Given the description of an element on the screen output the (x, y) to click on. 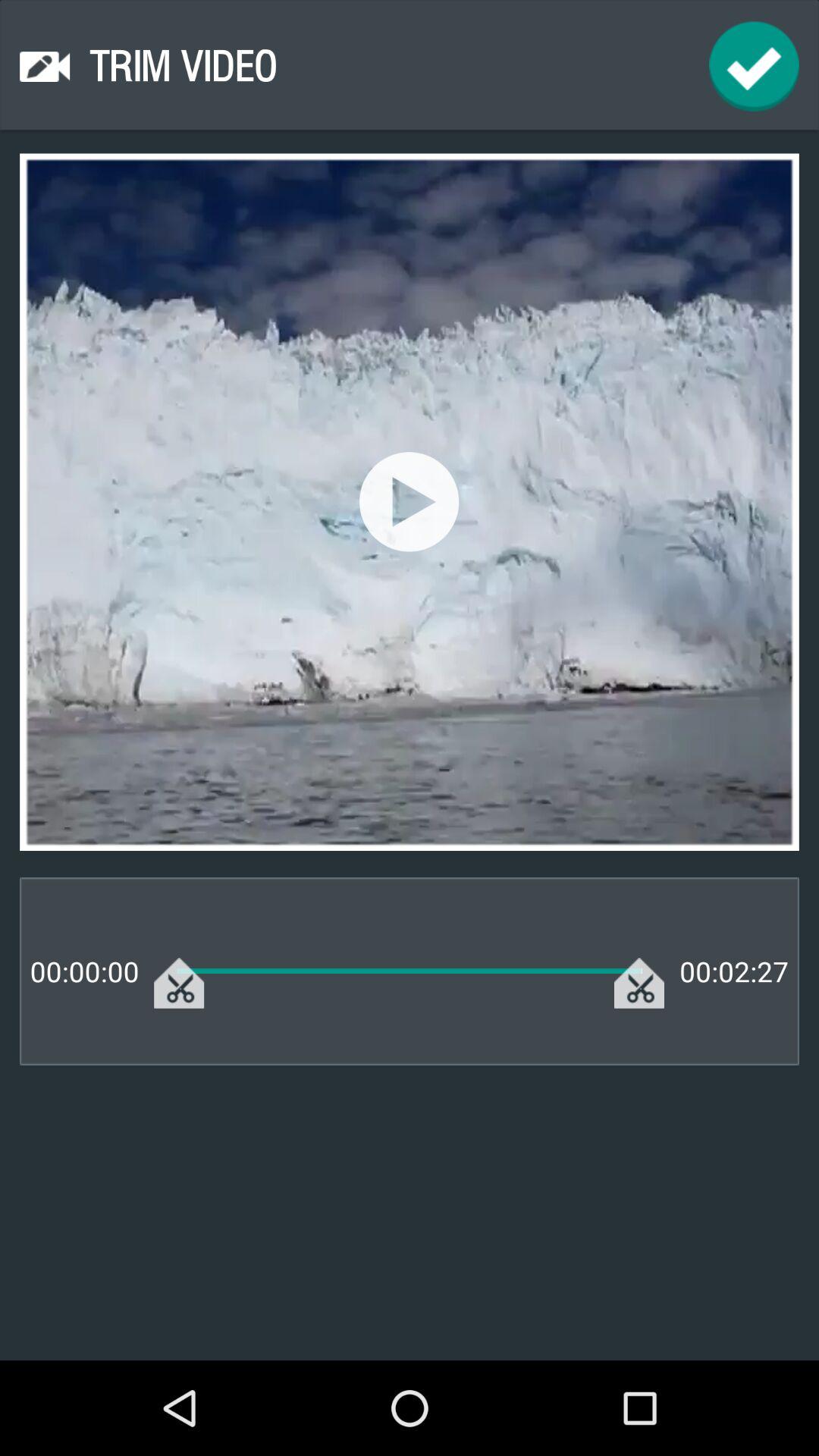
play video (408, 501)
